Given the description of an element on the screen output the (x, y) to click on. 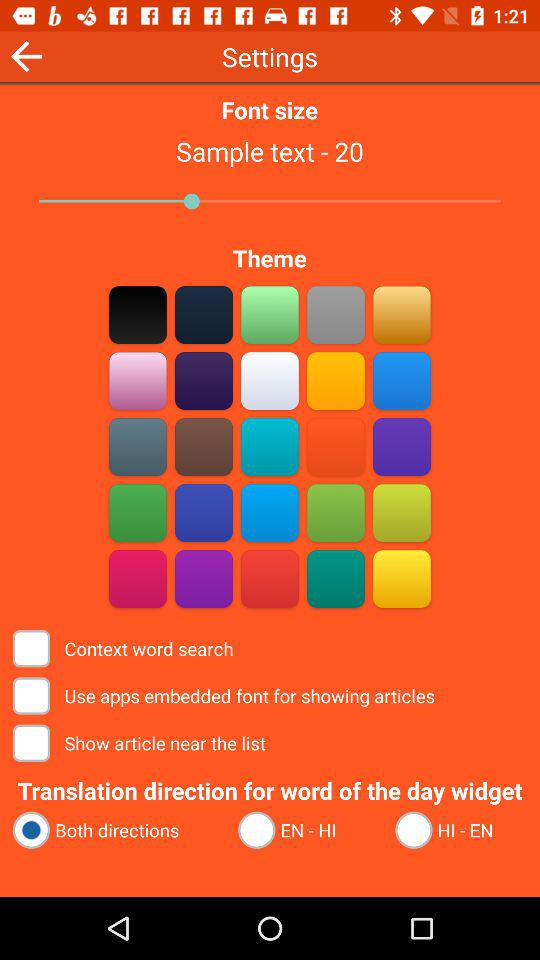
aquamarine green option color theme (269, 314)
